Given the description of an element on the screen output the (x, y) to click on. 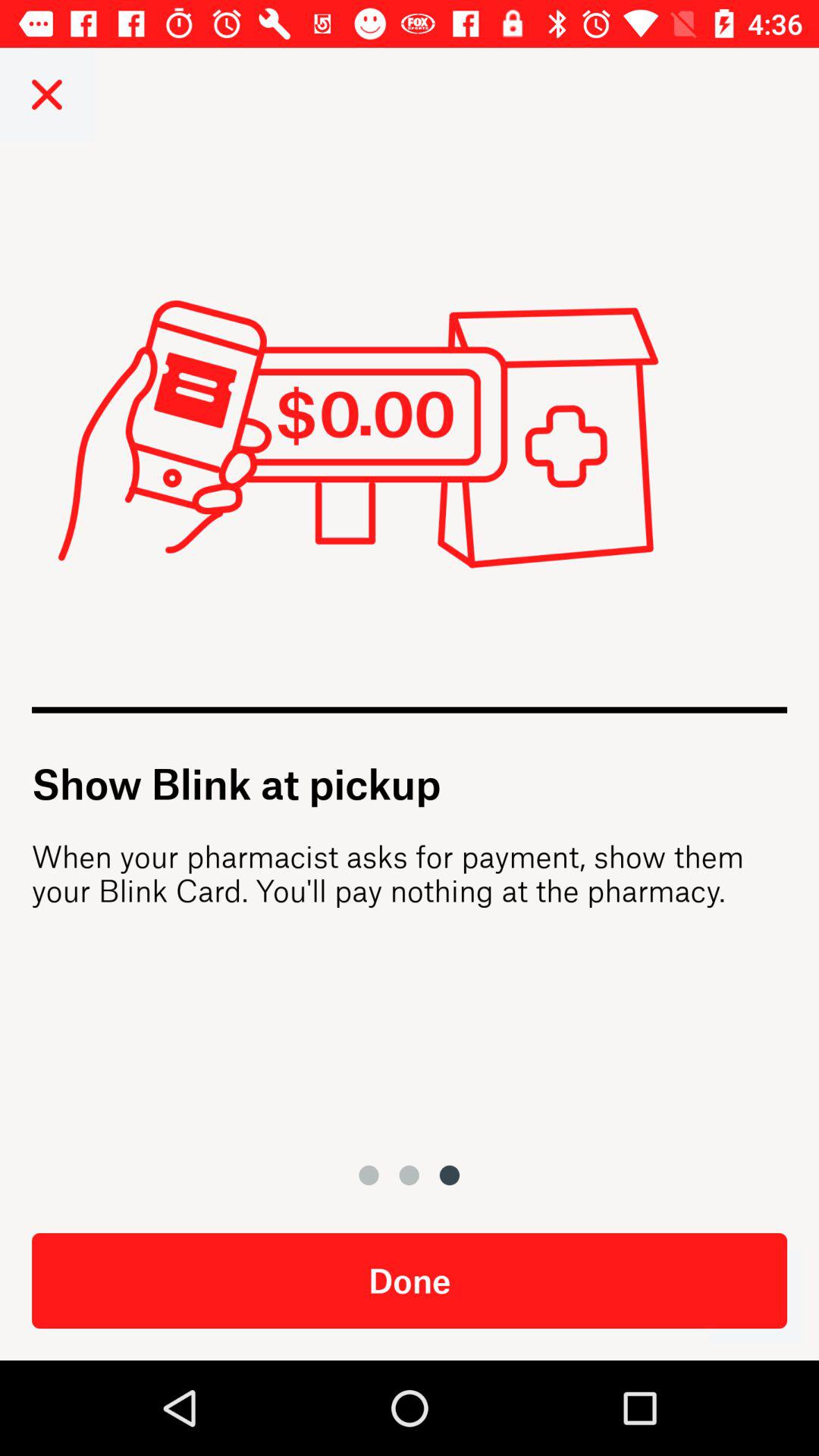
close window (46, 94)
